Given the description of an element on the screen output the (x, y) to click on. 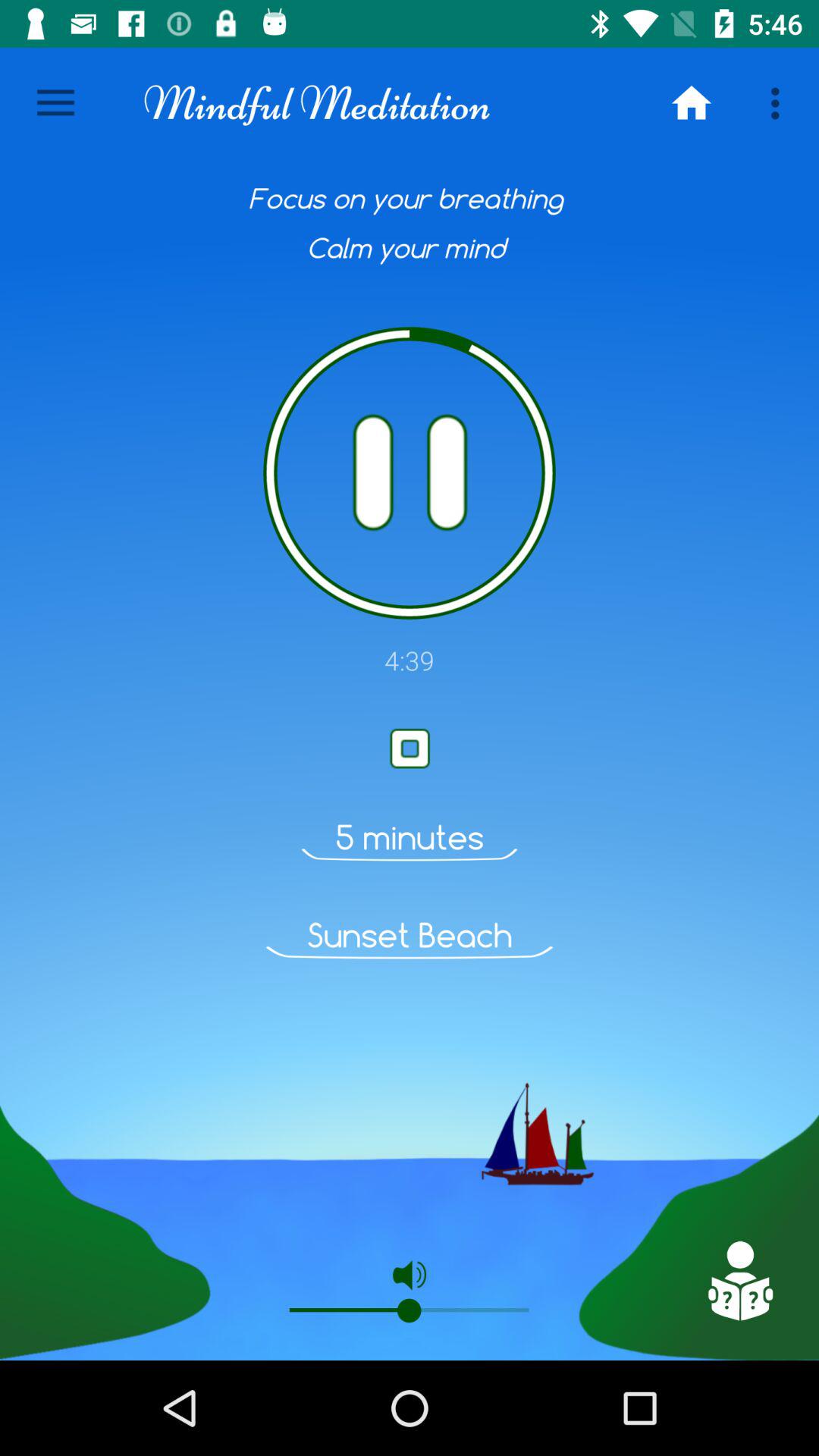
pause (409, 472)
